Given the description of an element on the screen output the (x, y) to click on. 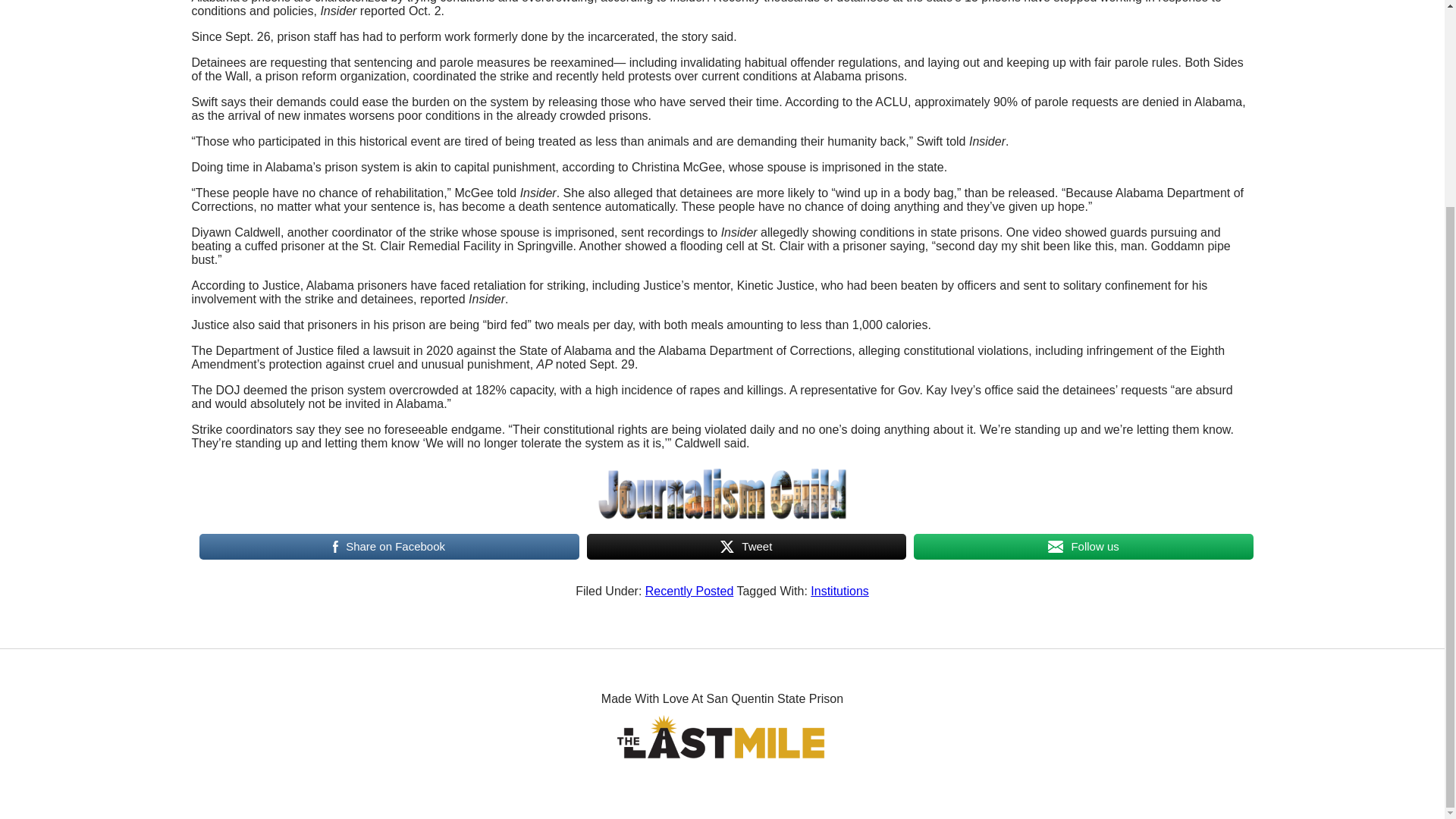
Institutions (838, 590)
Share on Facebook (388, 546)
Tweet (745, 546)
Follow us (1083, 546)
Recently Posted (689, 590)
